Given the description of an element on the screen output the (x, y) to click on. 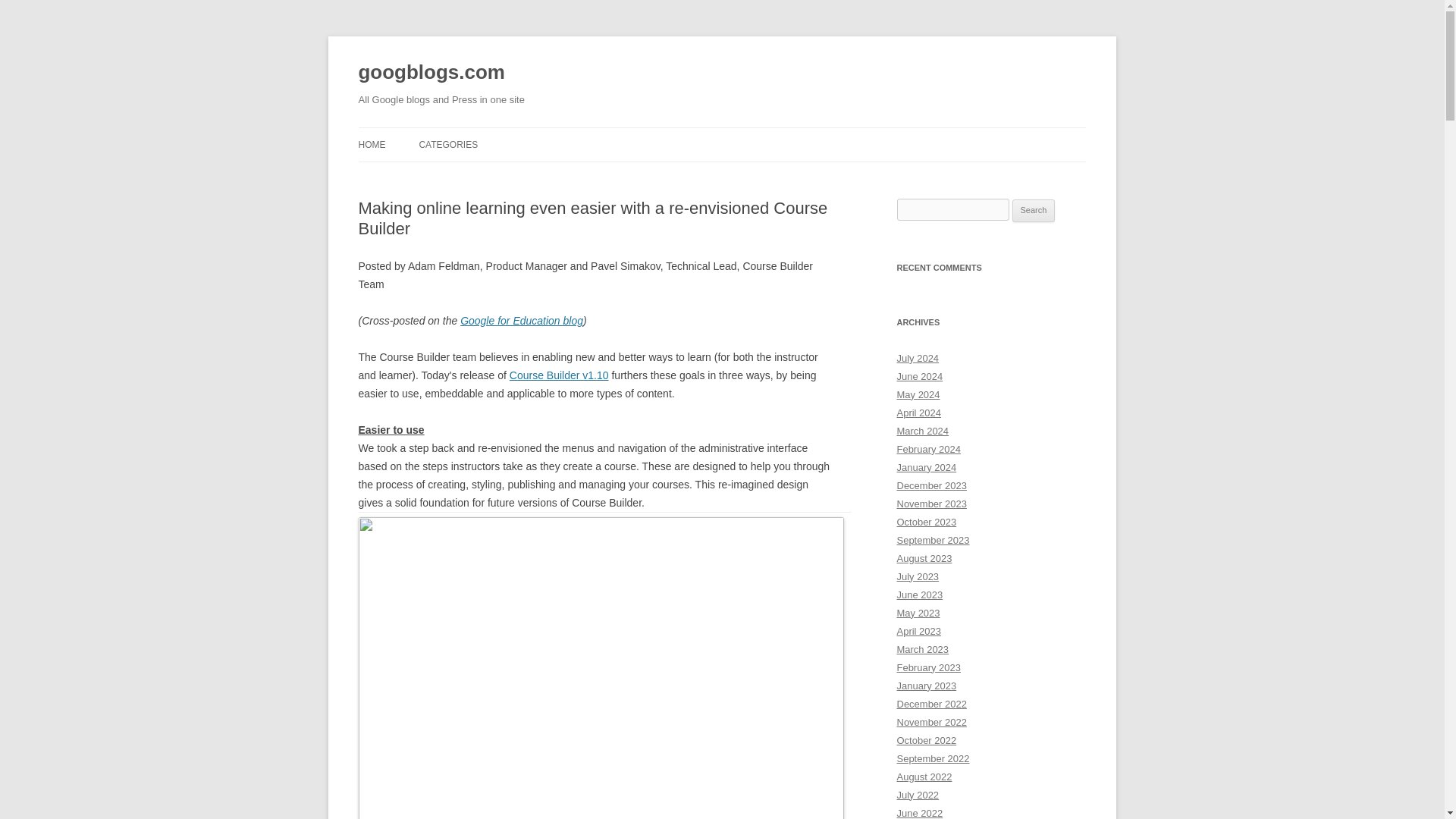
July 2024 (917, 357)
Search (1033, 210)
Google for Education blog (521, 320)
Search (1033, 210)
May 2024 (917, 394)
CATEGORIES (448, 144)
GOOGLE ADS DEVELOPER BLOG (494, 176)
April 2024 (918, 412)
March 2024 (922, 430)
HOME (371, 144)
June 2024 (919, 376)
googblogs.com (430, 72)
Course Builder v1.10 (558, 375)
January 2024 (926, 467)
